Given the description of an element on the screen output the (x, y) to click on. 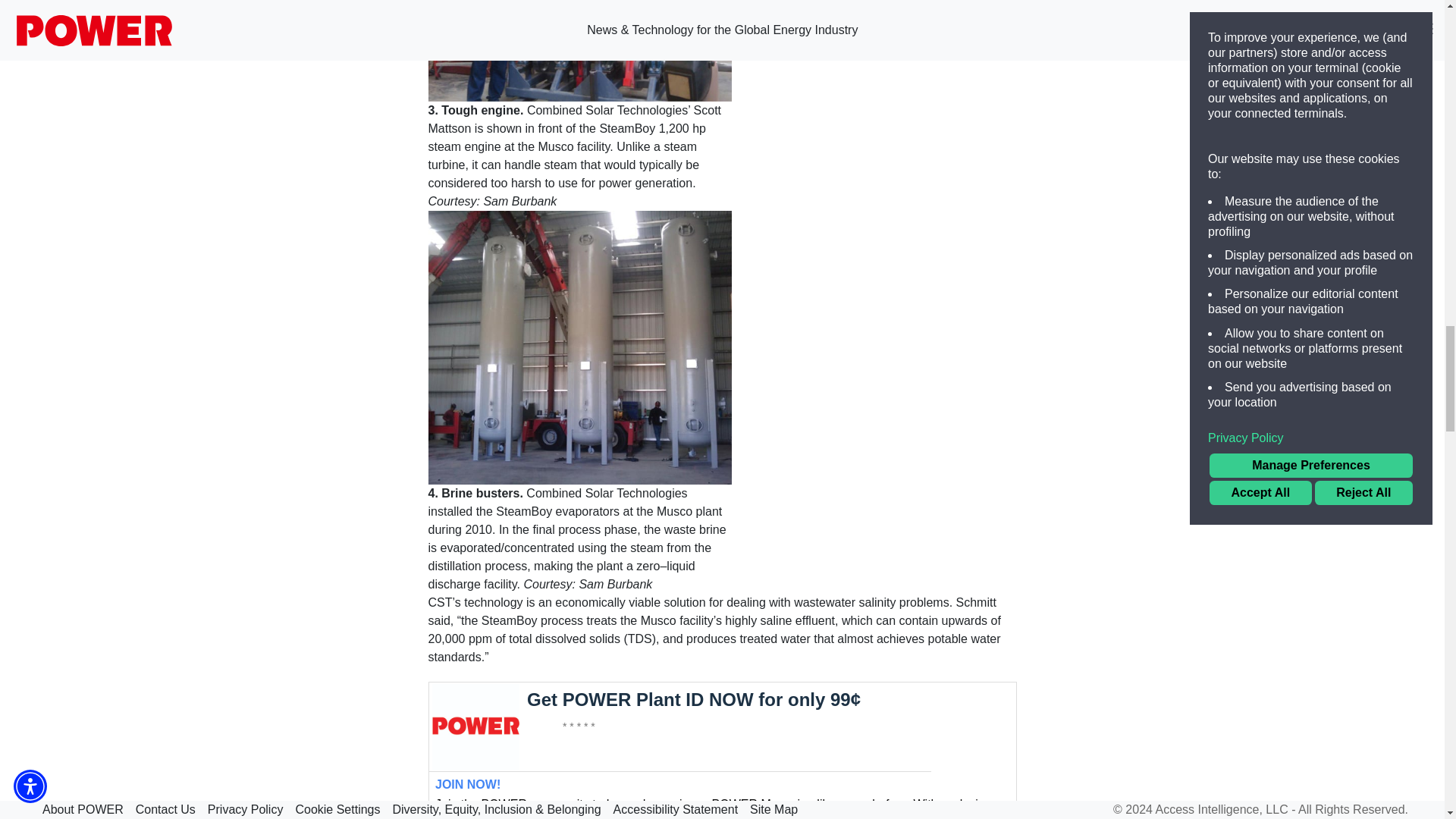
3rd party ad content (722, 750)
3rd party ad content (1181, 3)
